Given the description of an element on the screen output the (x, y) to click on. 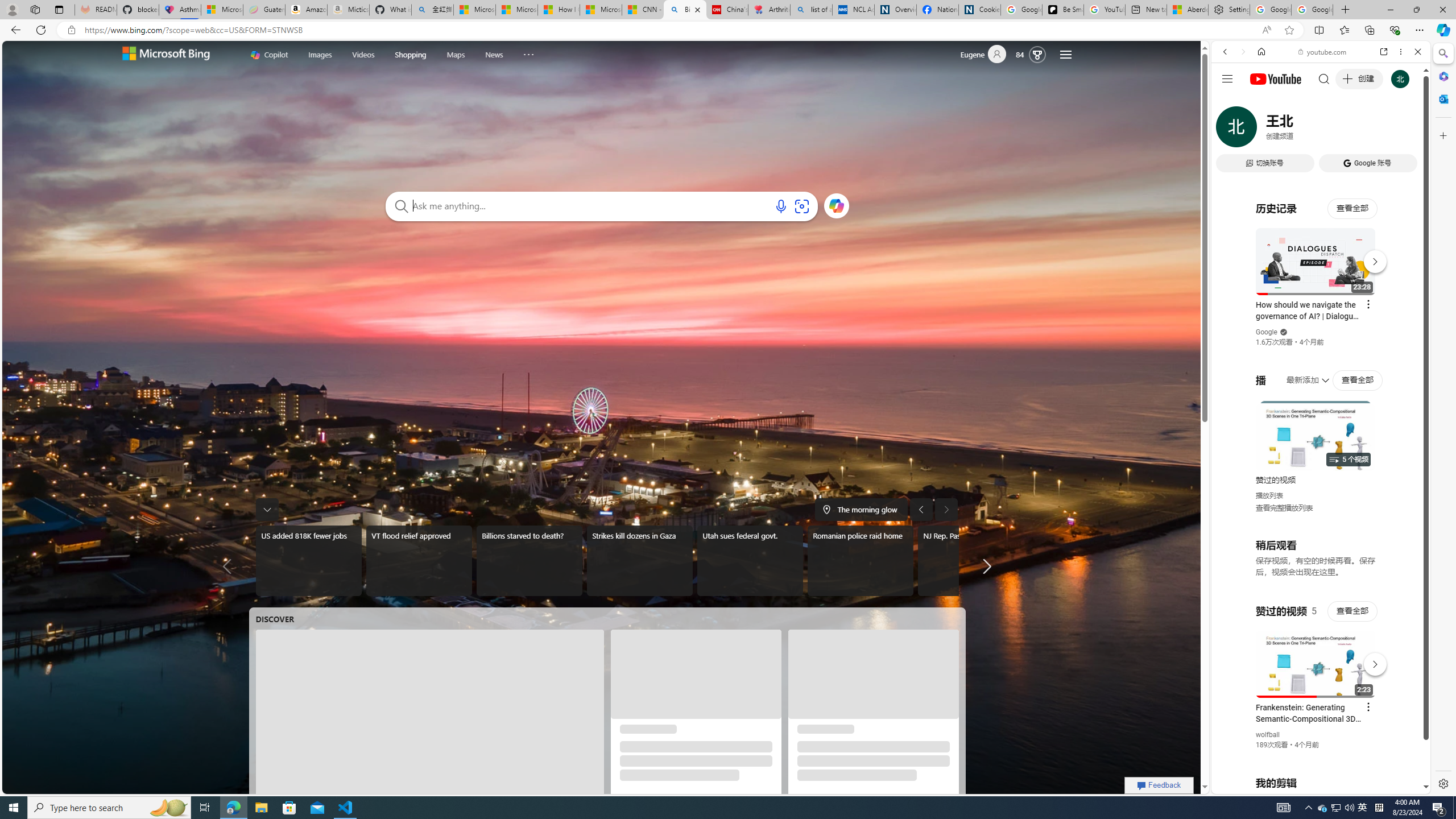
Utah sues federal govt. (750, 560)
Eugene (987, 54)
VT flood relief approved (418, 560)
The morning glow (860, 508)
